Given the description of an element on the screen output the (x, y) to click on. 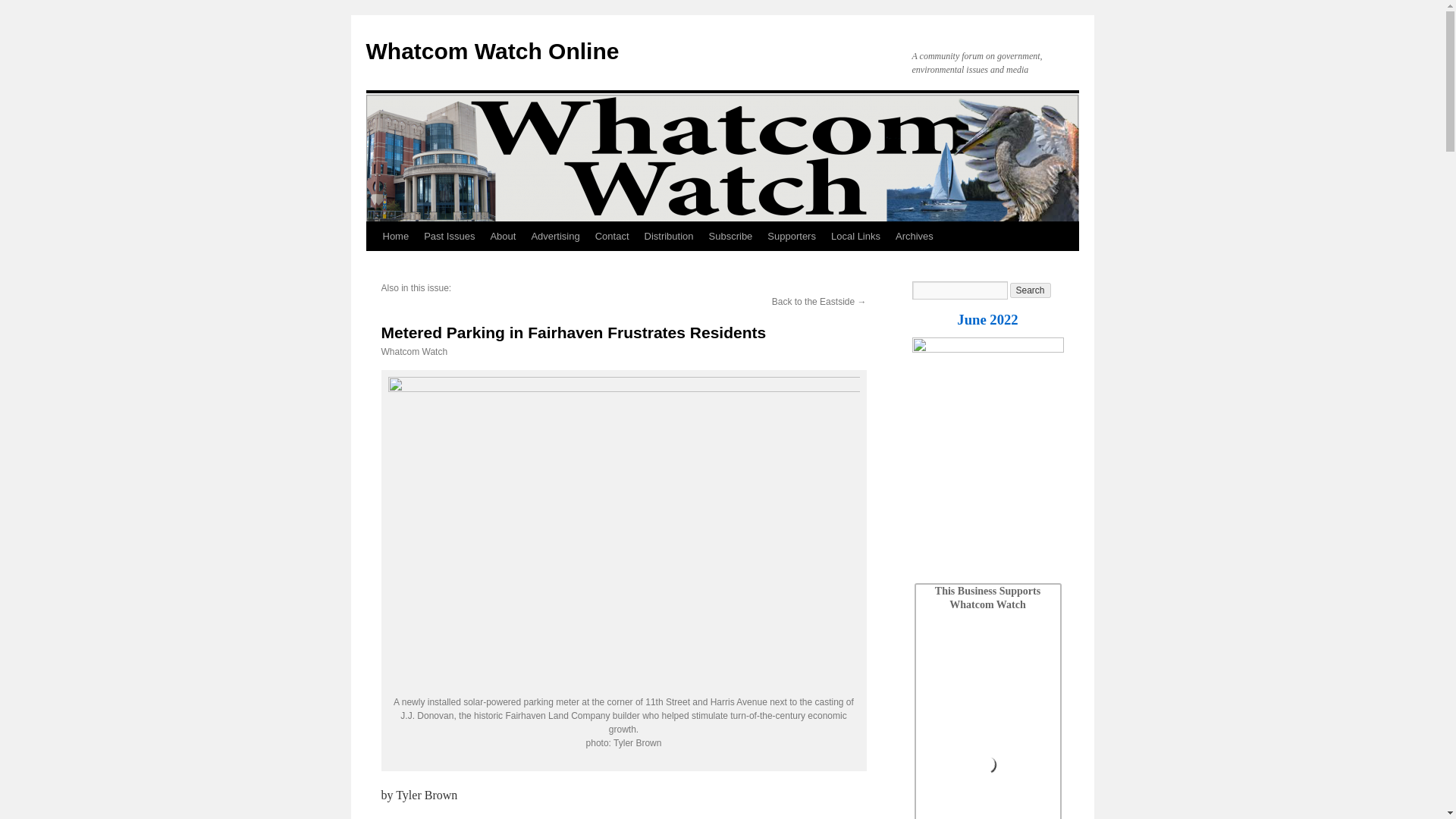
Past Issues (448, 235)
Subscribe (730, 235)
Search (1030, 290)
Distribution (669, 235)
Advertising (554, 235)
Contact (612, 235)
Supporters (792, 235)
Whatcom Watch Online (491, 50)
Search (1030, 290)
Whatcom Watch Online (491, 50)
